Given the description of an element on the screen output the (x, y) to click on. 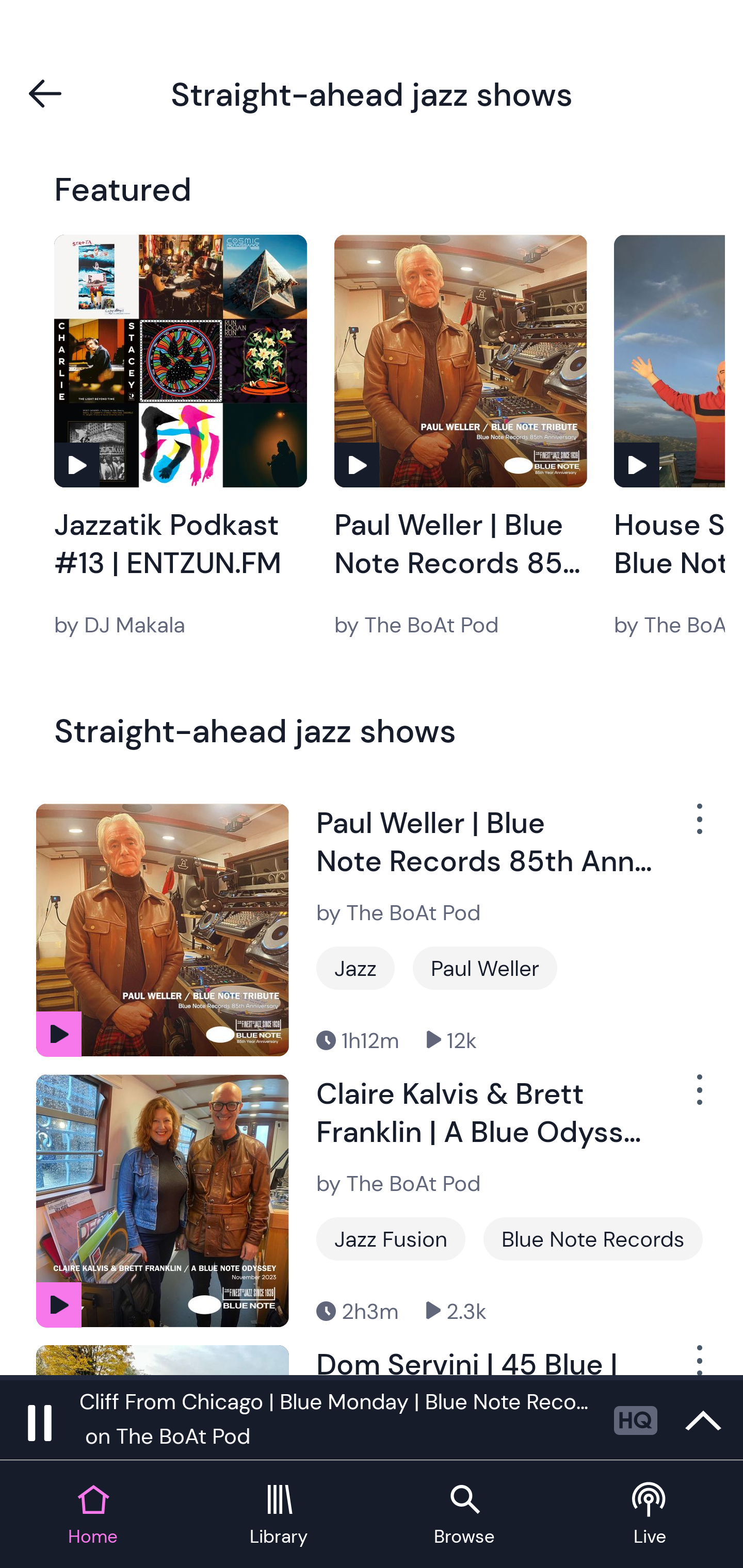
Show Options Menu Button (697, 825)
Jazz (355, 968)
Paul Weller (485, 968)
Show Options Menu Button (697, 1097)
Jazz Fusion (390, 1238)
Blue Note Records (592, 1238)
Show Options Menu Button (697, 1360)
Home tab Home (92, 1515)
Library tab Library (278, 1515)
Browse tab Browse (464, 1515)
Live tab Live (650, 1515)
